Given the description of an element on the screen output the (x, y) to click on. 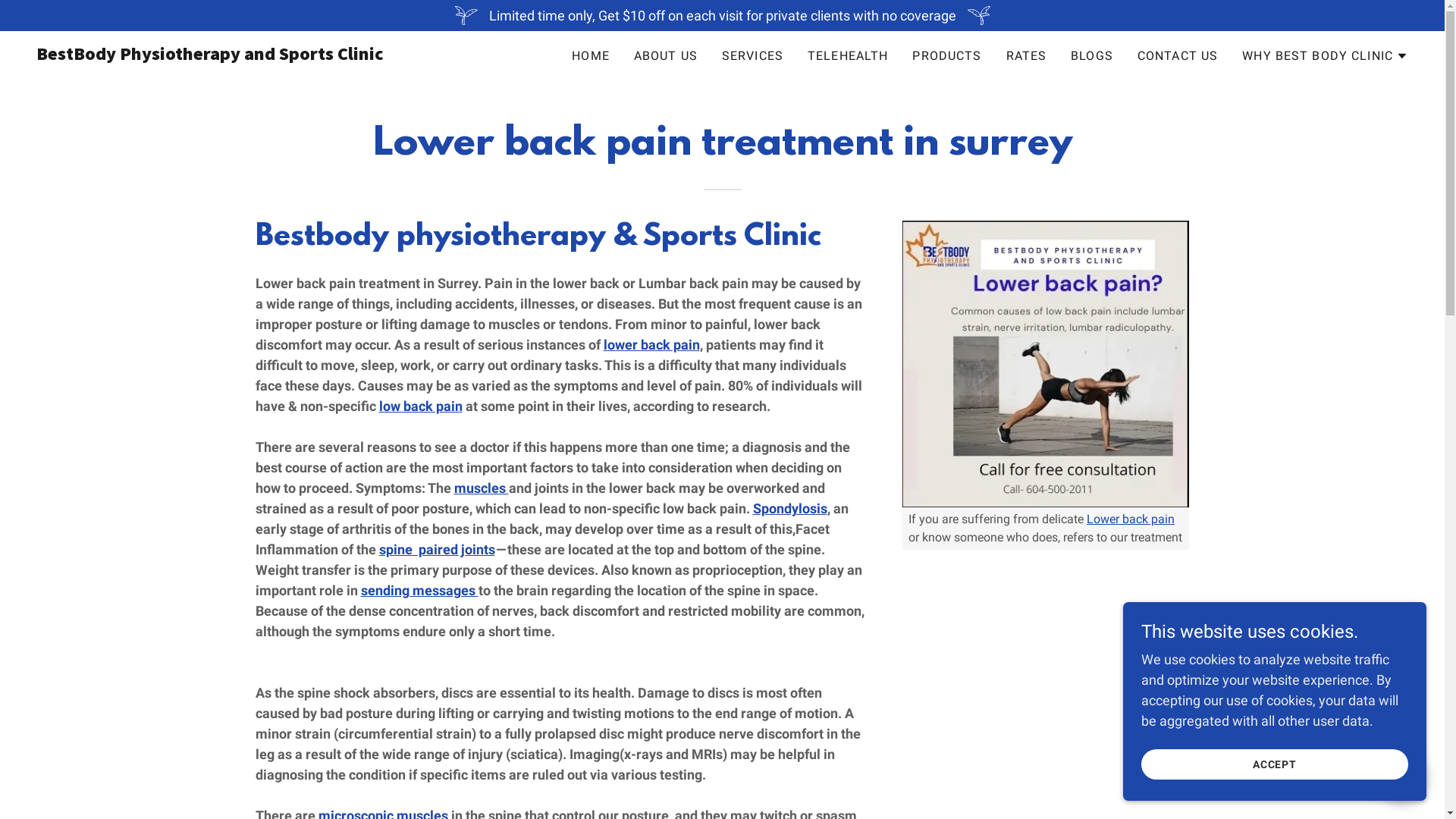
Lower back pain Element type: text (1130, 518)
sending messages Element type: text (419, 590)
ABOUT US Element type: text (665, 55)
RATES Element type: text (1026, 55)
PRODUCTS Element type: text (946, 55)
CONTACT US Element type: text (1177, 55)
WHY BEST BODY CLINIC Element type: text (1325, 56)
HOME Element type: text (590, 55)
lower back pain Element type: text (651, 344)
low back pain Element type: text (420, 406)
spine  paired joints Element type: text (437, 549)
muscles Element type: text (480, 487)
ACCEPT Element type: text (1274, 764)
Spondylosis Element type: text (789, 508)
SERVICES Element type: text (752, 55)
TELEHEALTH Element type: text (847, 55)
BLOGS Element type: text (1091, 55)
BestBody Physiotherapy and Sports Clinic Element type: text (276, 54)
